Given the description of an element on the screen output the (x, y) to click on. 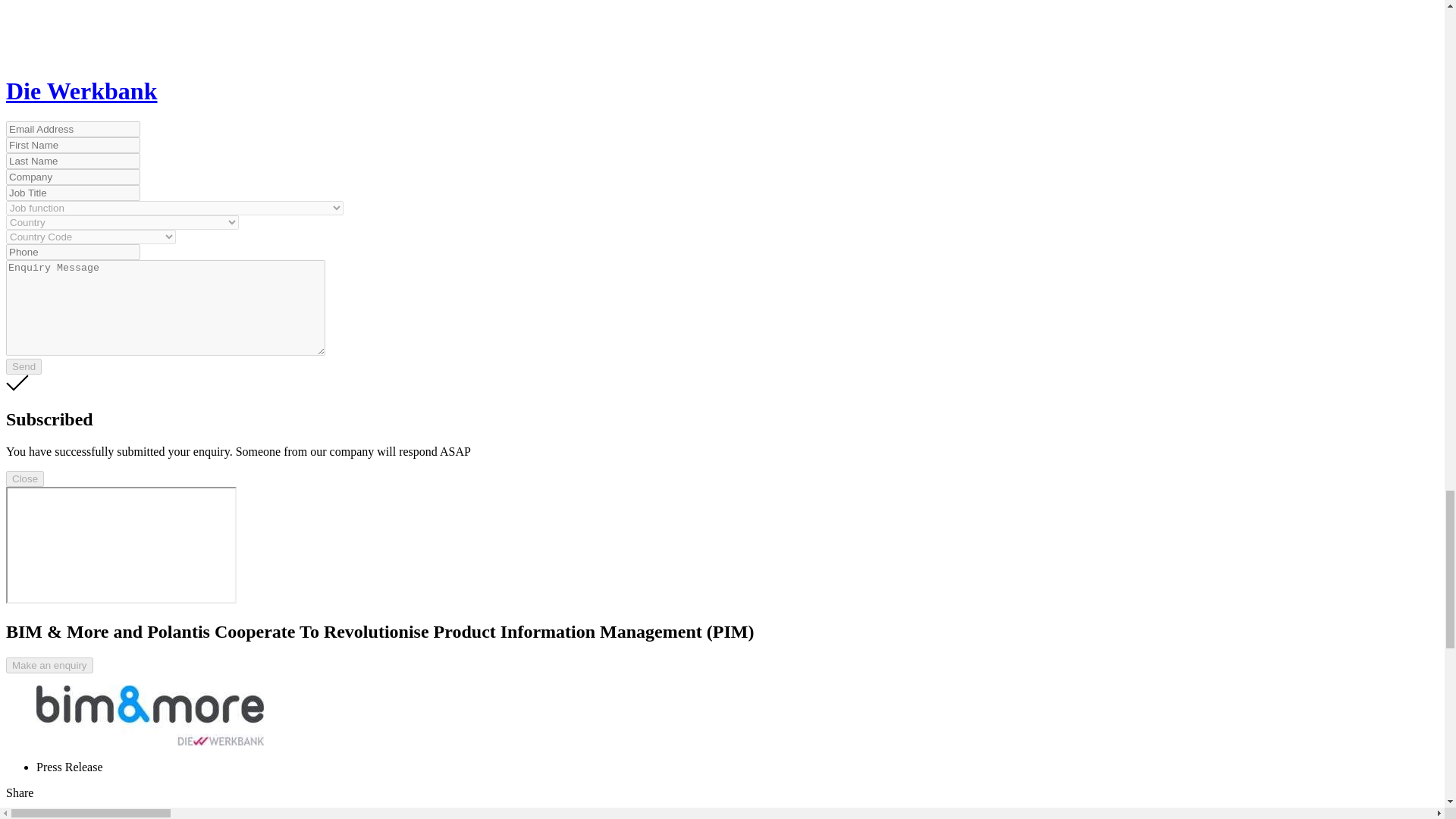
Send (23, 366)
